Given the description of an element on the screen output the (x, y) to click on. 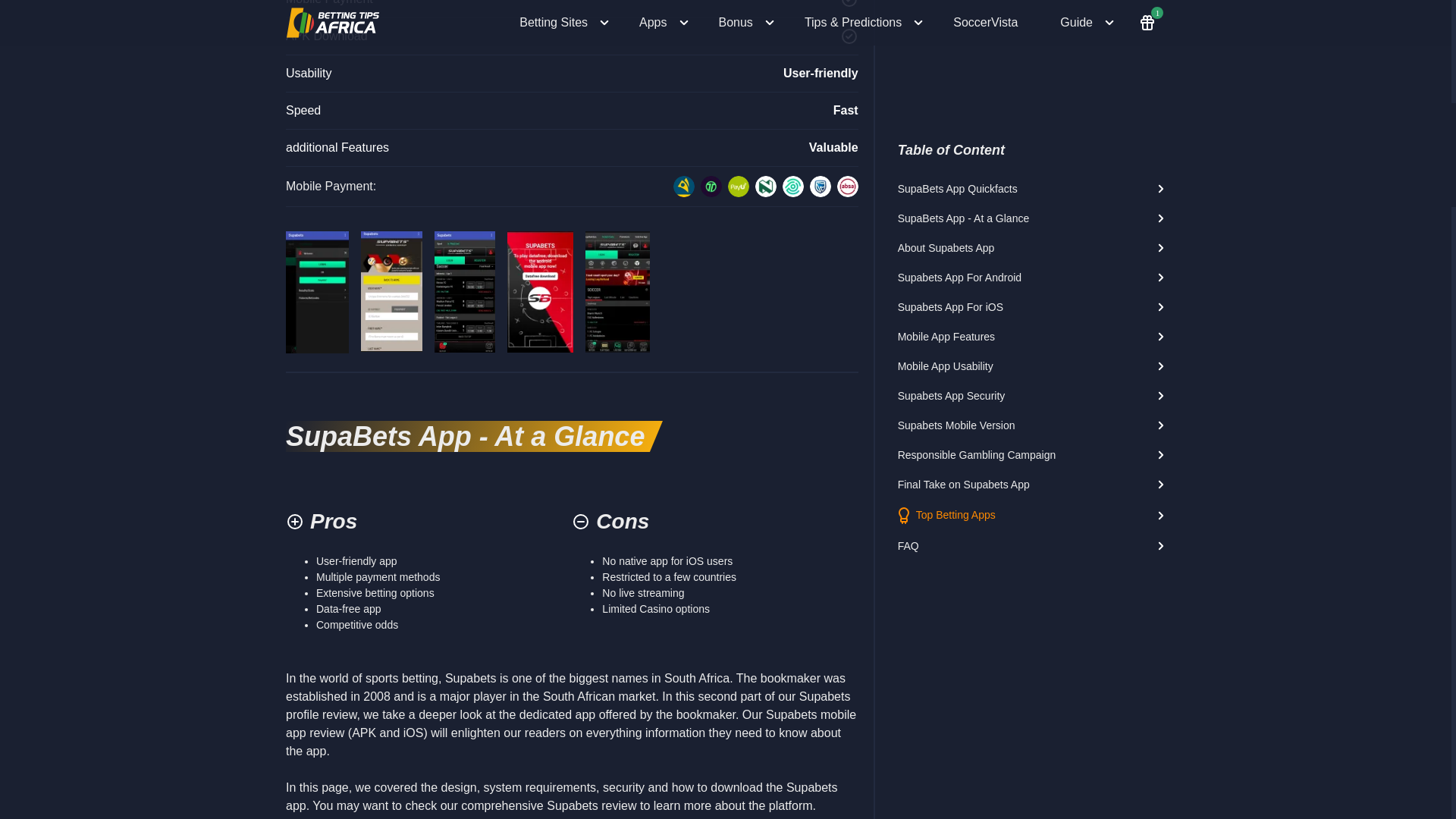
check (849, 36)
check (849, 4)
